Given the description of an element on the screen output the (x, y) to click on. 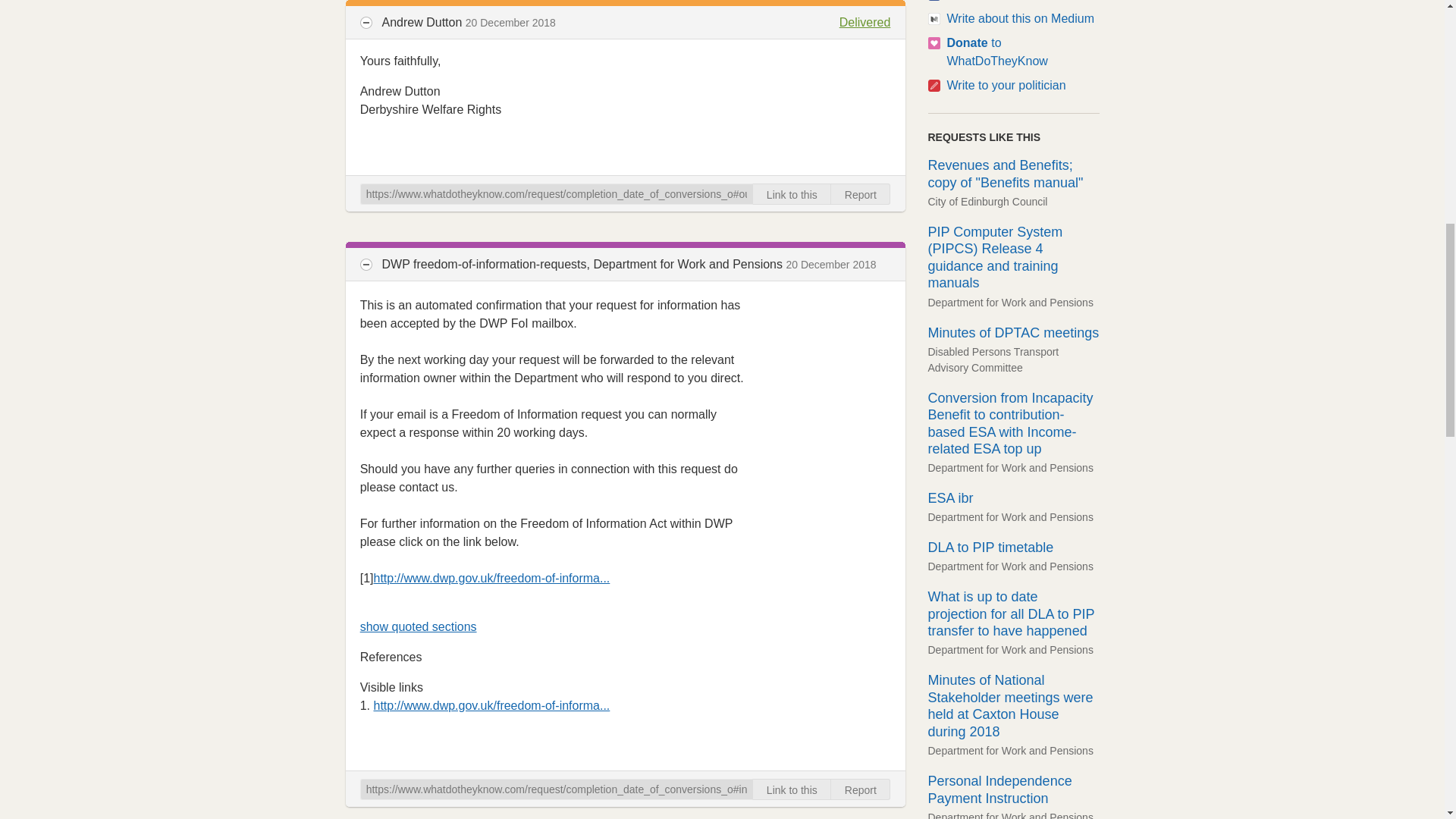
Link to this (791, 789)
show quoted sections (418, 626)
Link to this (791, 193)
Report (860, 193)
Report (860, 789)
20 December 2018 (831, 264)
